Given the description of an element on the screen output the (x, y) to click on. 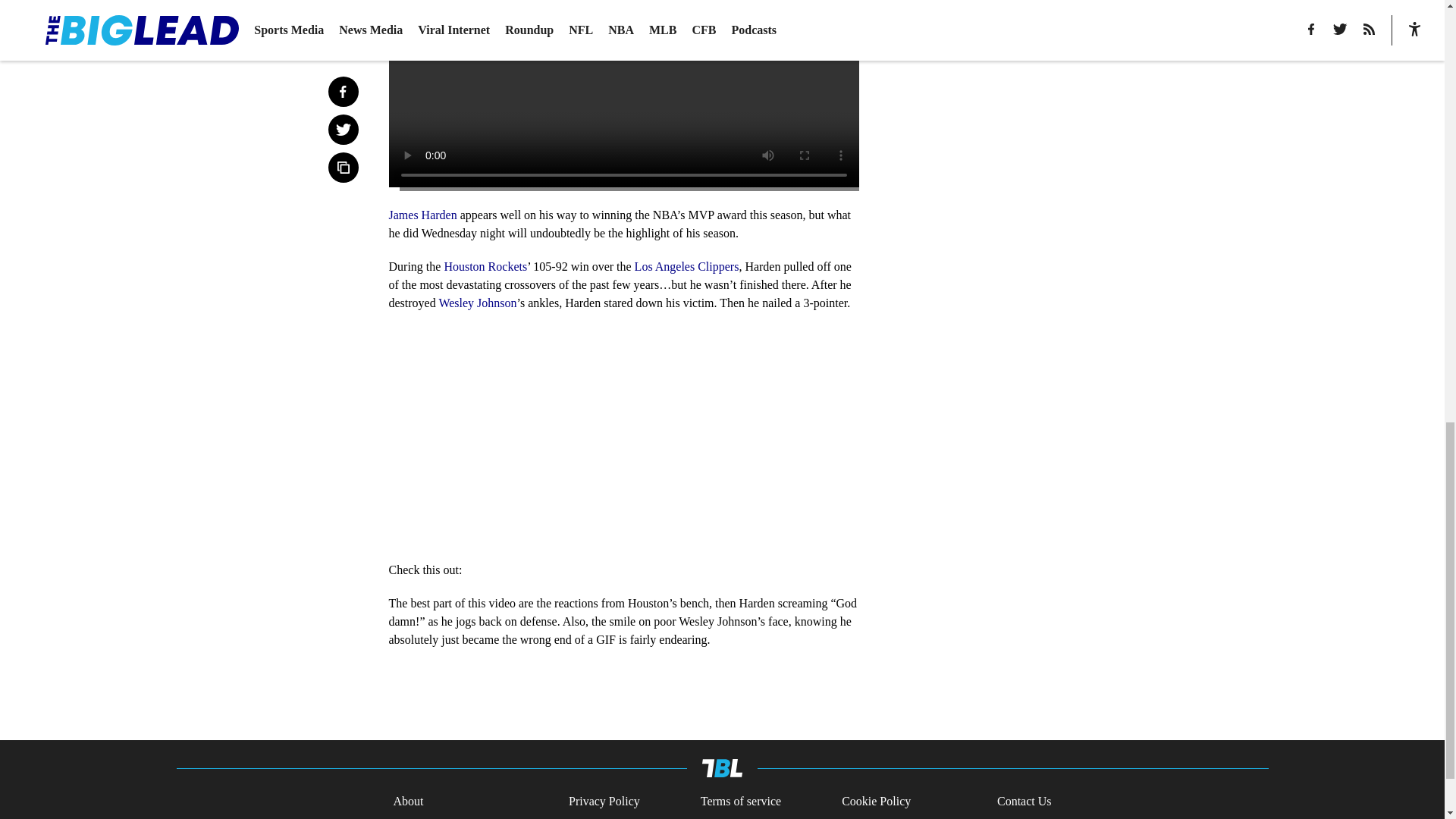
Los Angeles Clippers (686, 266)
Privacy Policy (604, 801)
About (408, 801)
Contact Us (1024, 801)
Terms of service (740, 801)
Houston Rockets (485, 266)
Cookie Policy (876, 801)
James Harden (422, 214)
Wesley Johnson (477, 302)
